Given the description of an element on the screen output the (x, y) to click on. 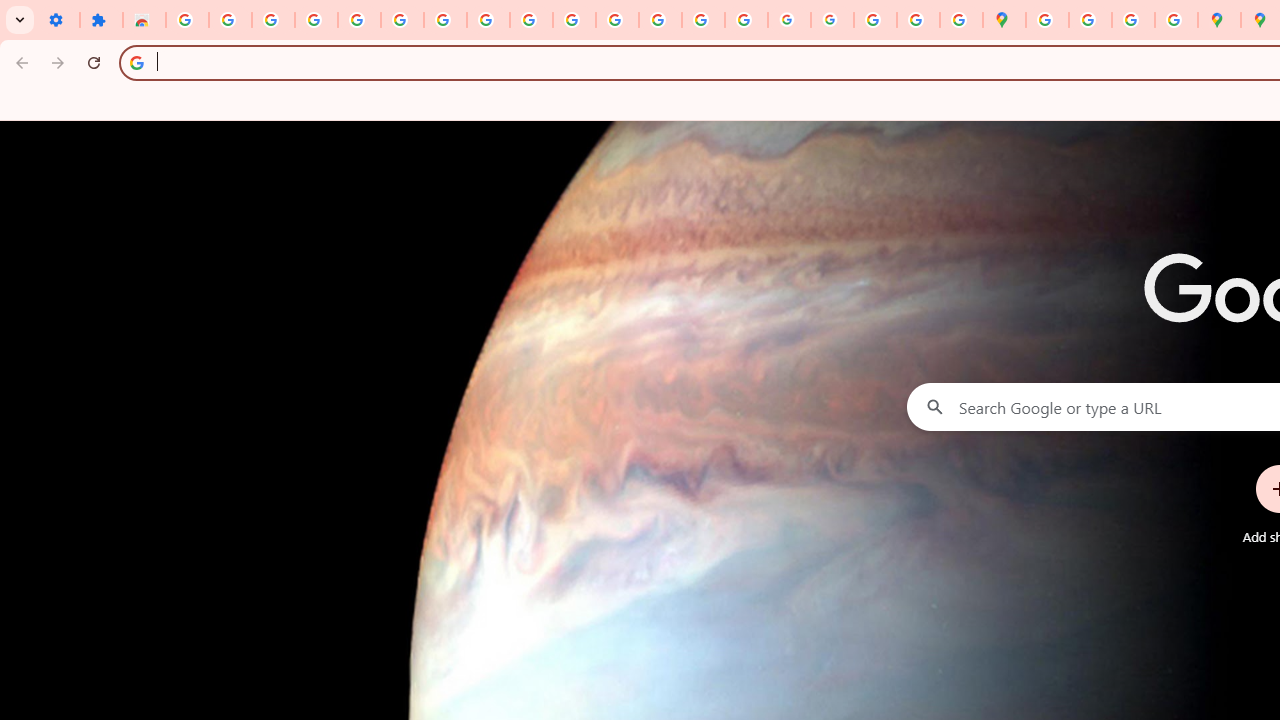
YouTube (530, 20)
Google Account (488, 20)
Sign in - Google Accounts (187, 20)
Safety in Our Products - Google Safety Center (1176, 20)
Search icon (136, 62)
Settings - On startup (58, 20)
